Given the description of an element on the screen output the (x, y) to click on. 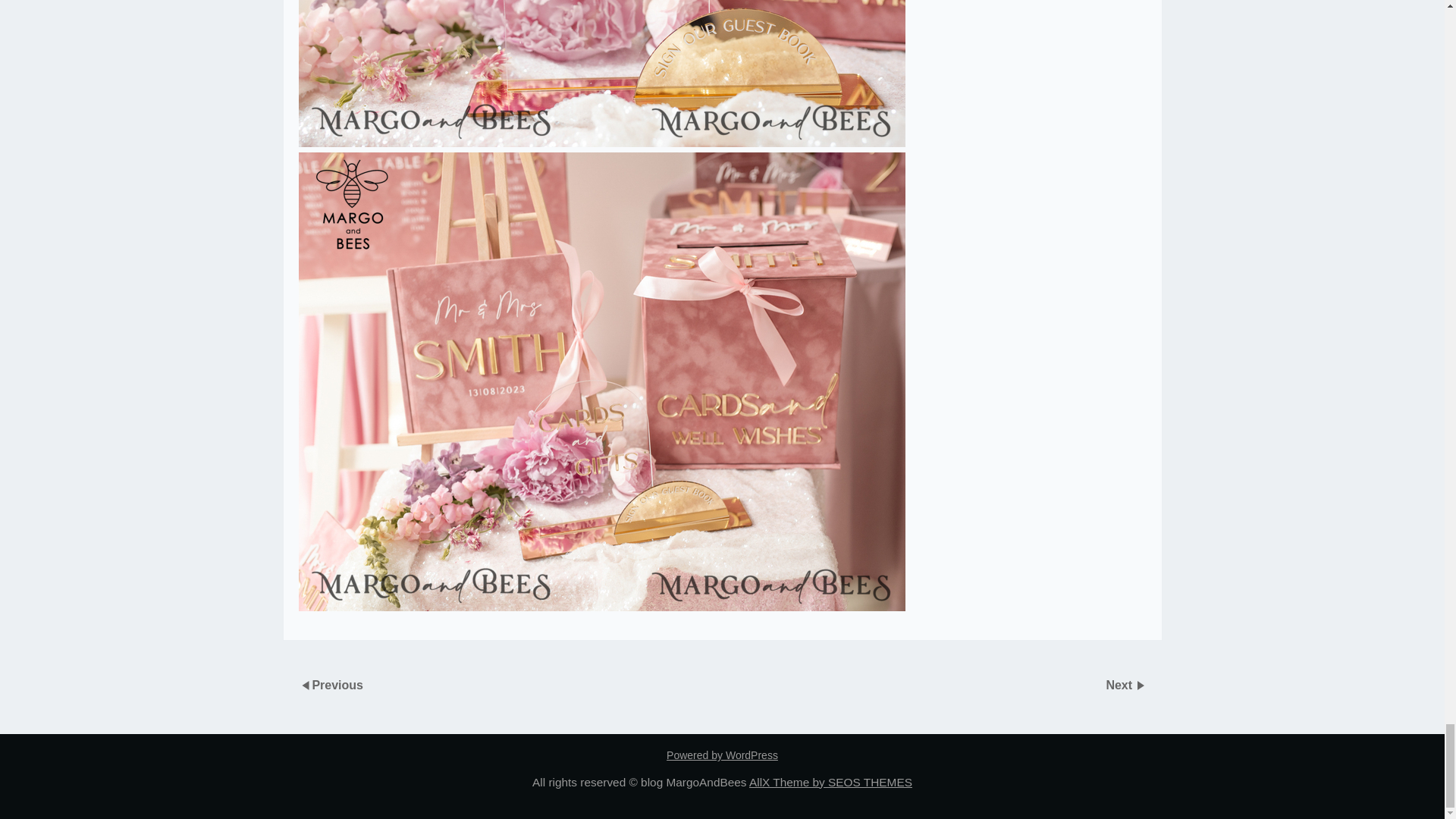
AllX Theme by SEOS THEMES (830, 781)
Previous (336, 684)
SEOS THEMES - AllX (830, 781)
Powered by WordPress (721, 755)
Next (1120, 684)
